Given the description of an element on the screen output the (x, y) to click on. 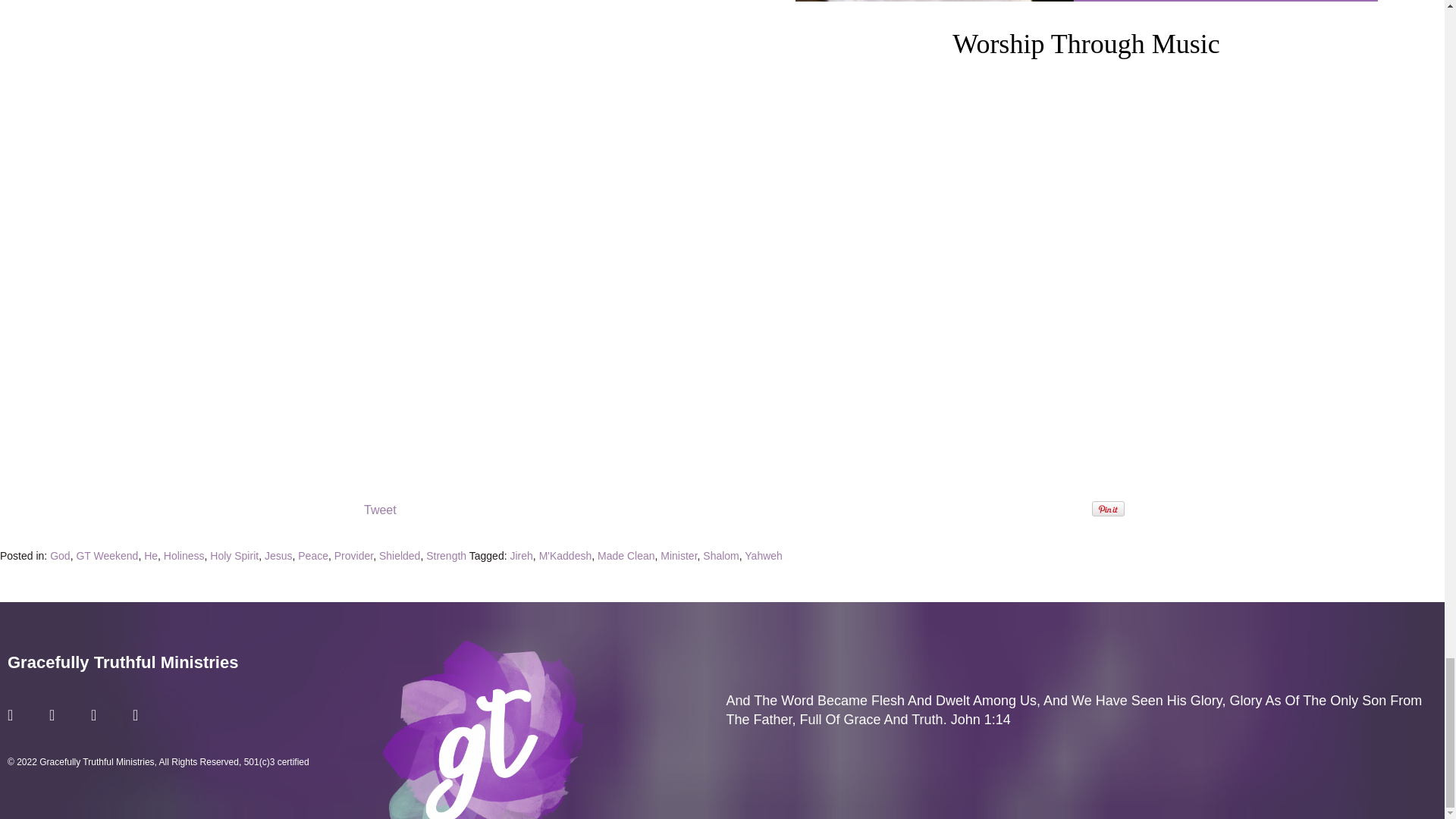
Pin It (1108, 508)
